Given the description of an element on the screen output the (x, y) to click on. 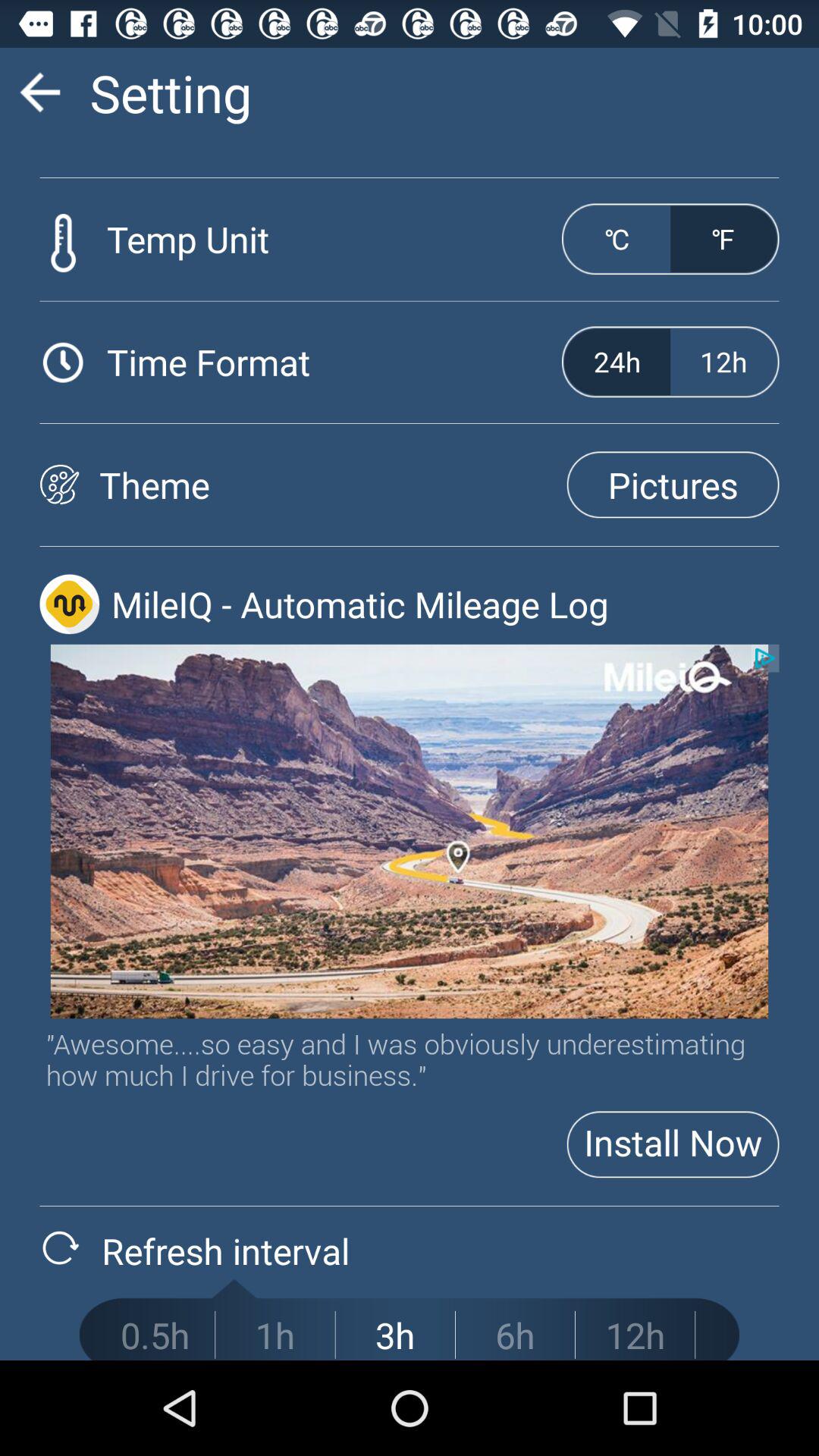
expand photo (409, 831)
